Given the description of an element on the screen output the (x, y) to click on. 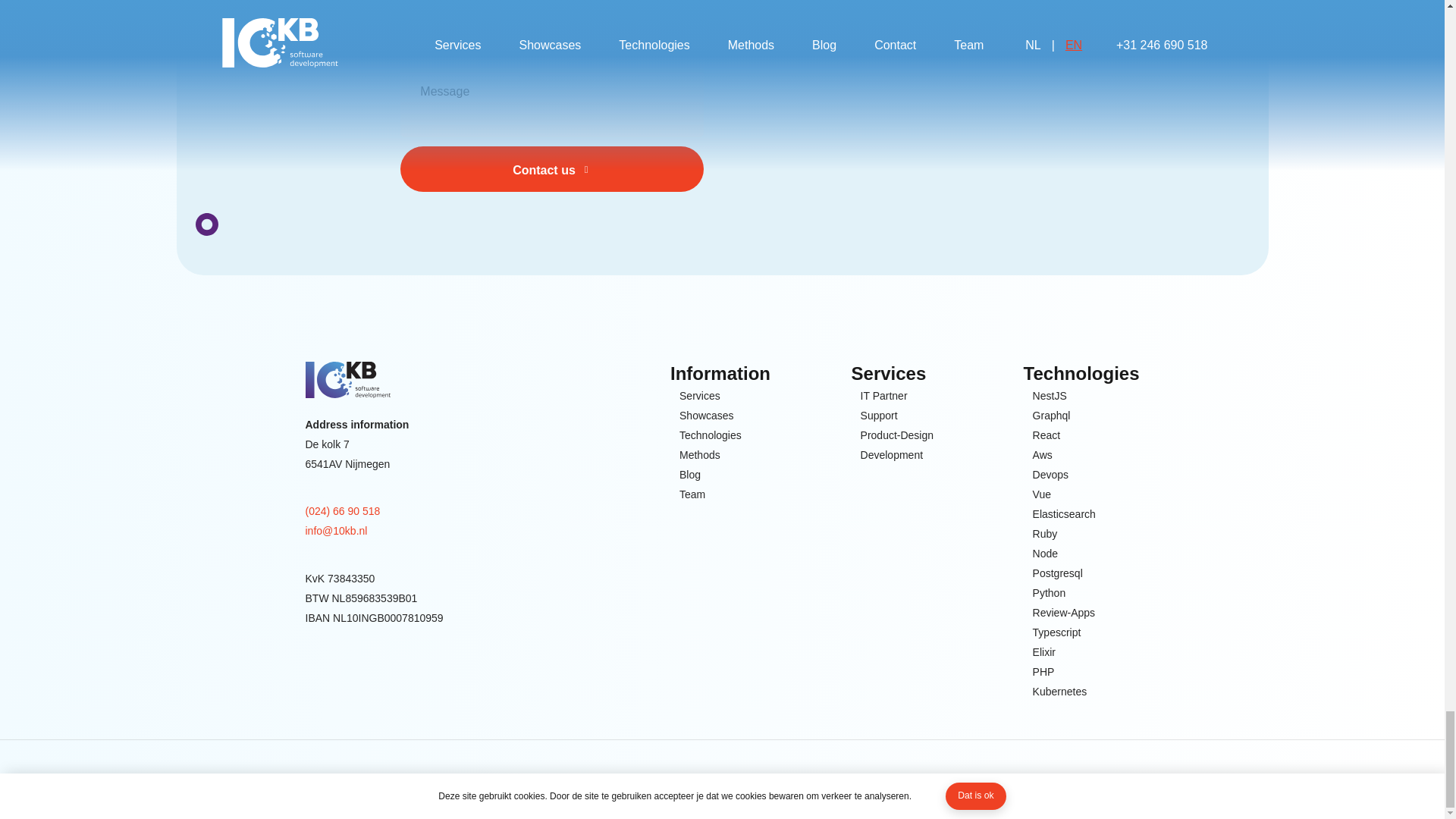
Methods (699, 455)
Technologies (710, 435)
Contact us (551, 168)
Team (691, 494)
Services (699, 395)
Showcases (706, 415)
Showcases (706, 415)
Blog (689, 474)
Services (699, 395)
Support (879, 415)
